Given the description of an element on the screen output the (x, y) to click on. 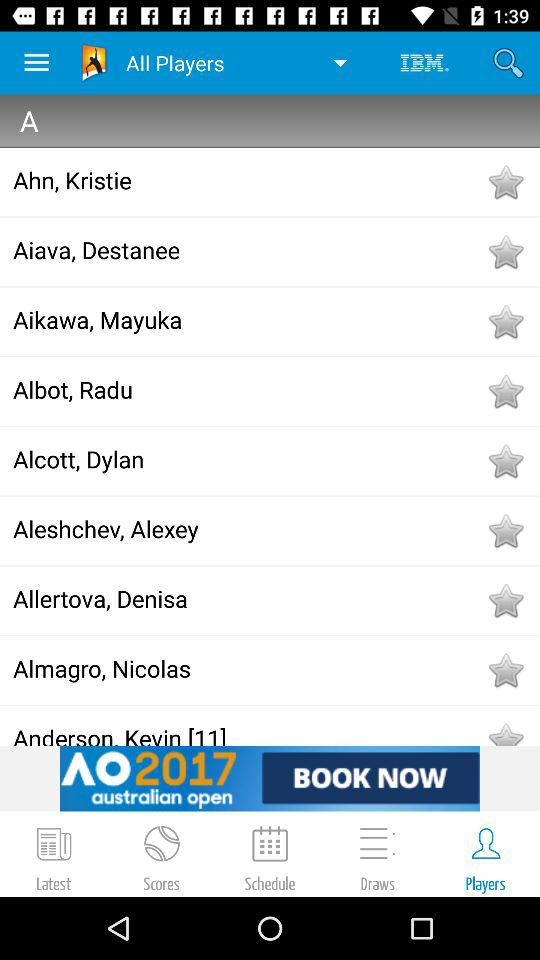
bookmark a contact (505, 182)
